Given the description of an element on the screen output the (x, y) to click on. 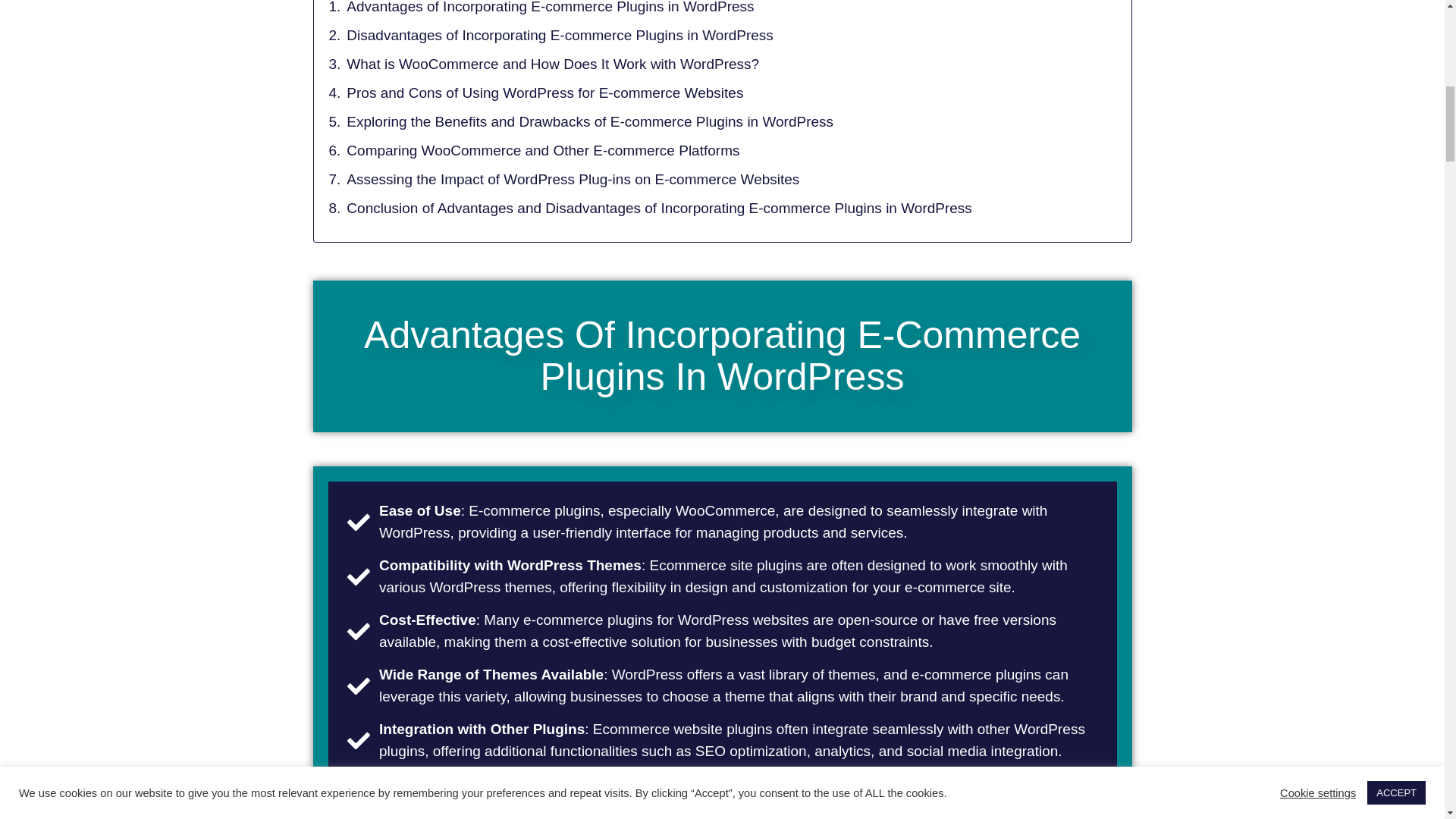
What is WooCommerce and How Does It Work with WordPress? (552, 65)
Comparing WooCommerce and Other E-commerce Platforms (542, 151)
Advantages of Incorporating E-commerce Plugins in WordPress (550, 9)
Pros and Cons of Using WordPress for E-commerce Websites (544, 93)
